Given the description of an element on the screen output the (x, y) to click on. 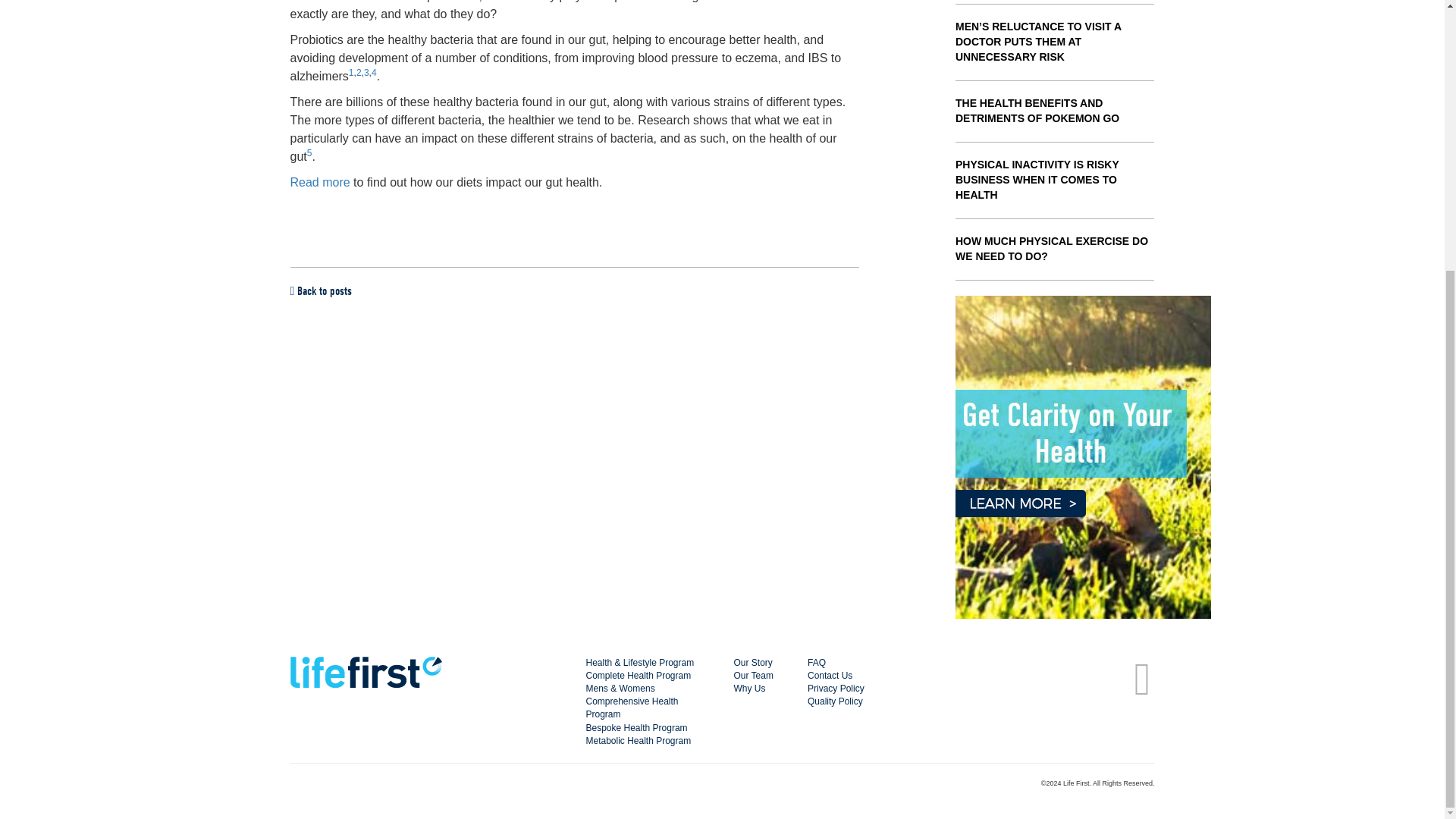
Read more (319, 182)
The health benefits and detriments of Pokemon Go (1037, 110)
HOW MUCH PHYSICAL EXERCISE DO WE NEED TO DO? (1051, 248)
How much physical exercise do we need to do? (1051, 248)
THE HEALTH BENEFITS AND DETRIMENTS OF POKEMON GO (1037, 110)
Back to posts (320, 291)
